Given the description of an element on the screen output the (x, y) to click on. 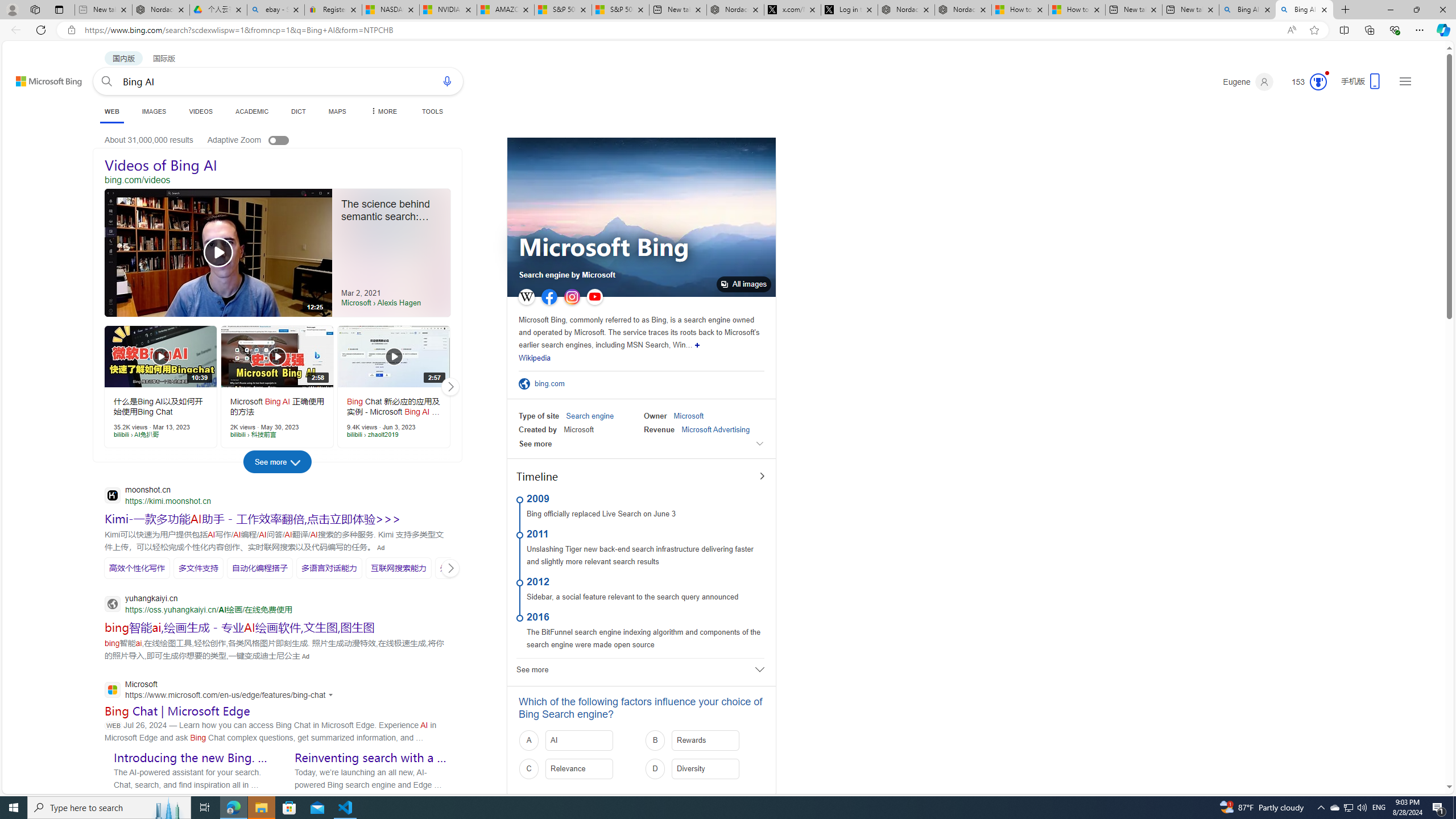
SERP,5716 (259, 568)
DICT (298, 111)
All images (641, 216)
AutomationID: mfa_root (1406, 752)
SERP,5718 (398, 568)
Eugene (1248, 81)
Type of site (538, 415)
Microsoft Advertising (715, 429)
DICT (298, 111)
SERP,5717 (329, 567)
